Given the description of an element on the screen output the (x, y) to click on. 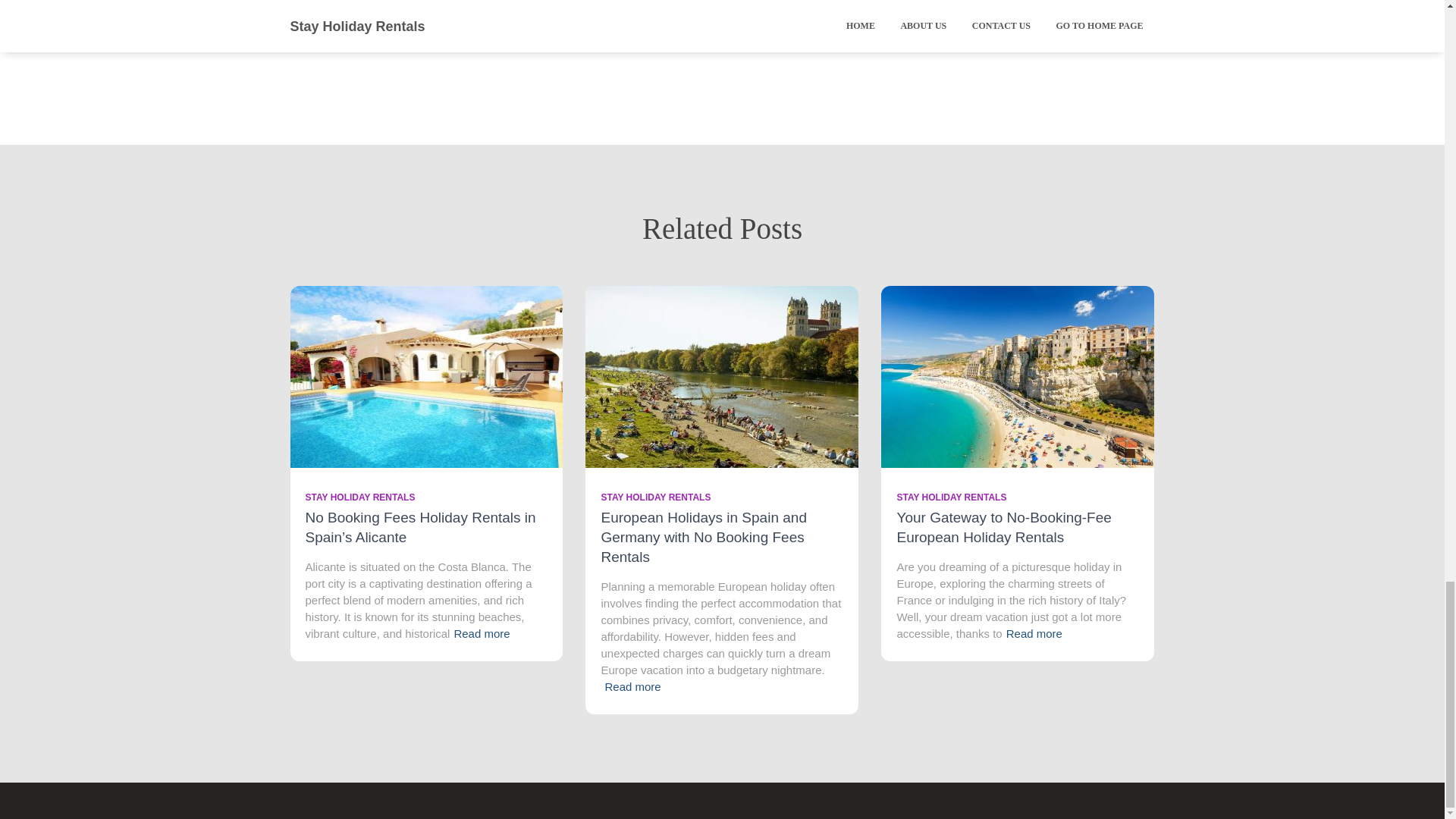
View all posts in Stay Holiday Rentals (359, 497)
View all posts in Stay Holiday Rentals (951, 497)
Your Gateway to No-Booking-Fee European Holiday Rentals (1017, 376)
View all posts in Stay Holiday Rentals (654, 497)
Post Comment (798, 12)
Post Comment (798, 12)
